Given the description of an element on the screen output the (x, y) to click on. 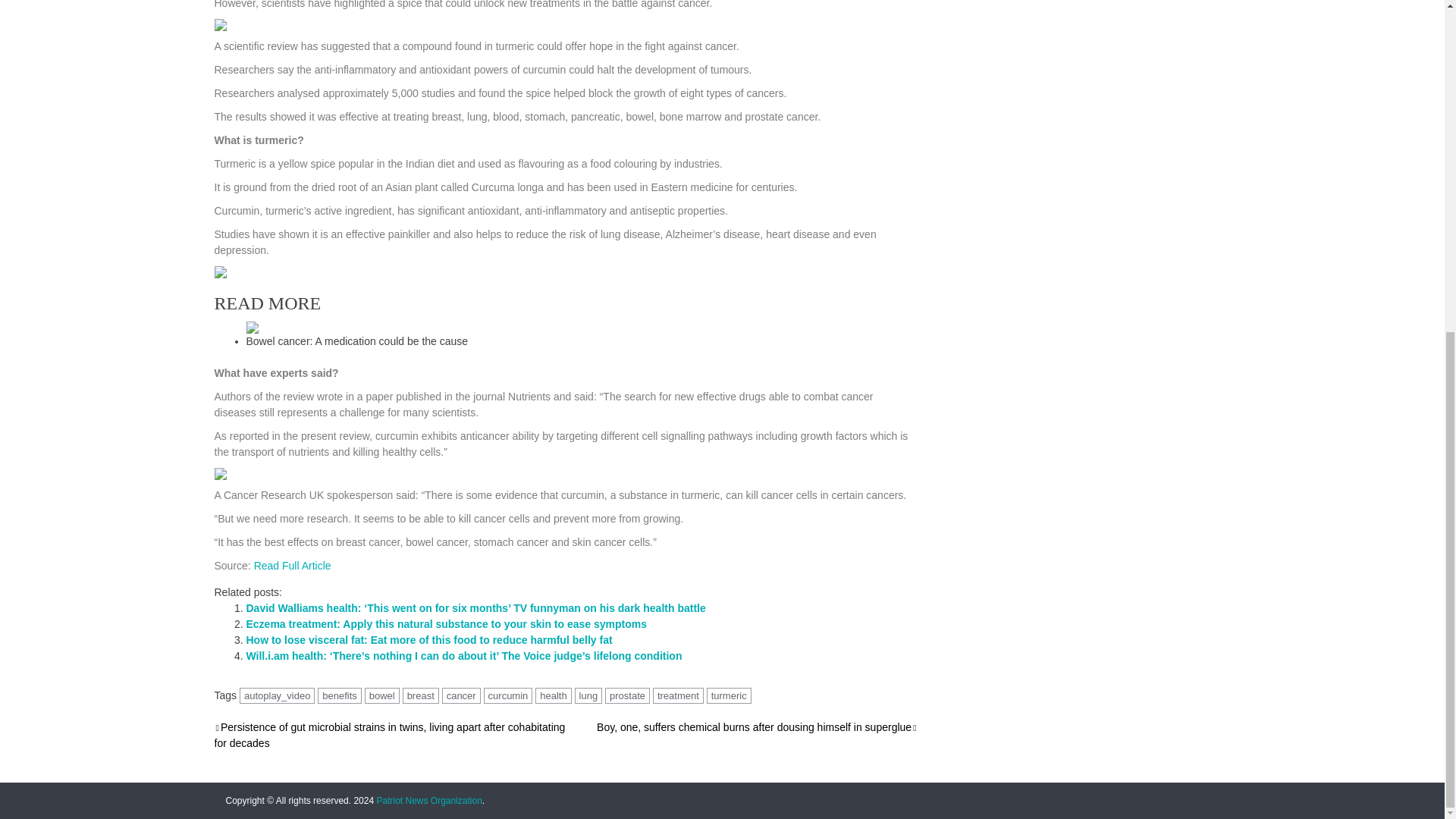
bowel (381, 695)
health (552, 695)
lung (588, 695)
breast (421, 695)
benefits (339, 695)
treatment (677, 695)
Read Full Article (292, 565)
